Given the description of an element on the screen output the (x, y) to click on. 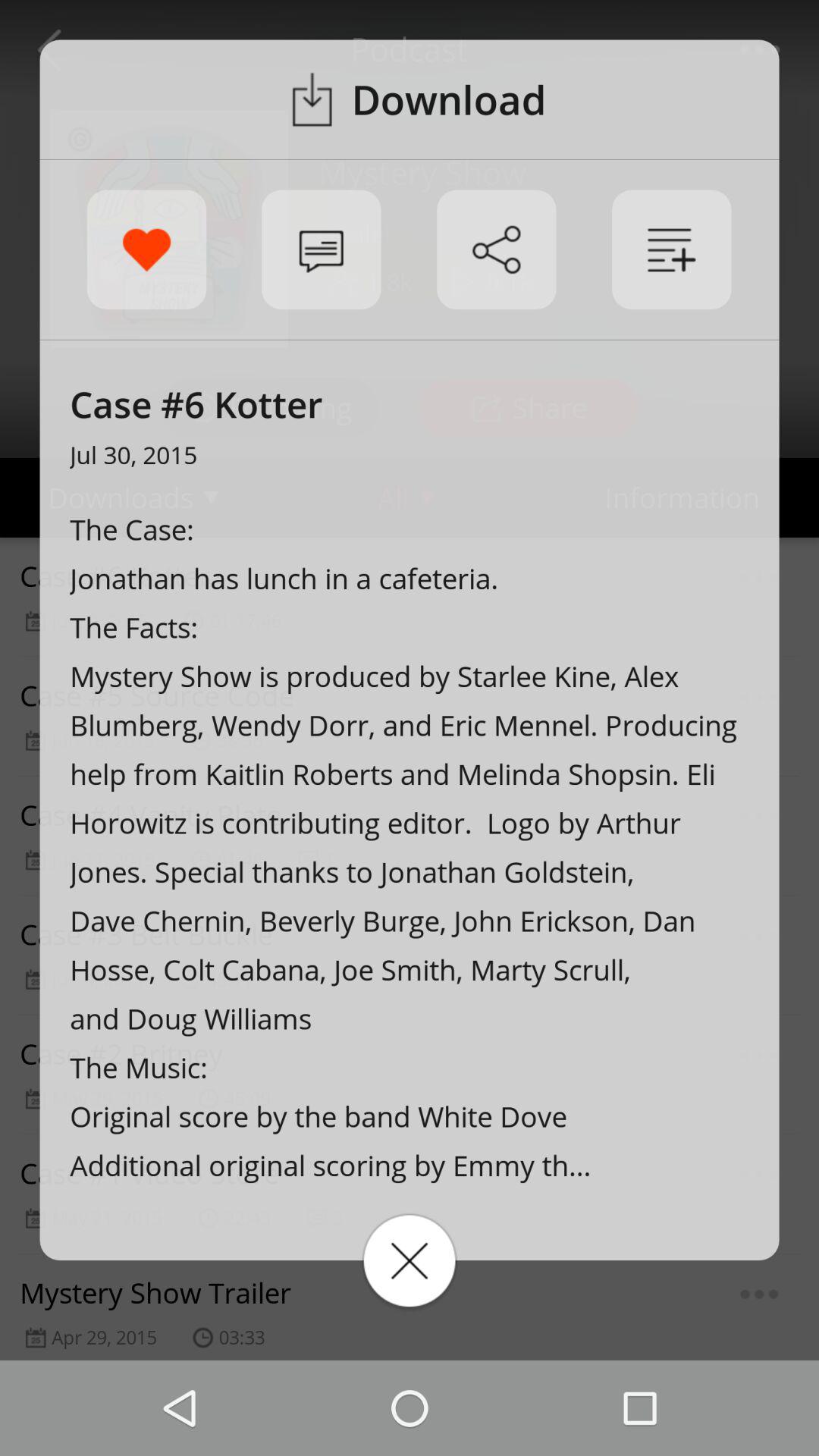
notification (321, 249)
